Given the description of an element on the screen output the (x, y) to click on. 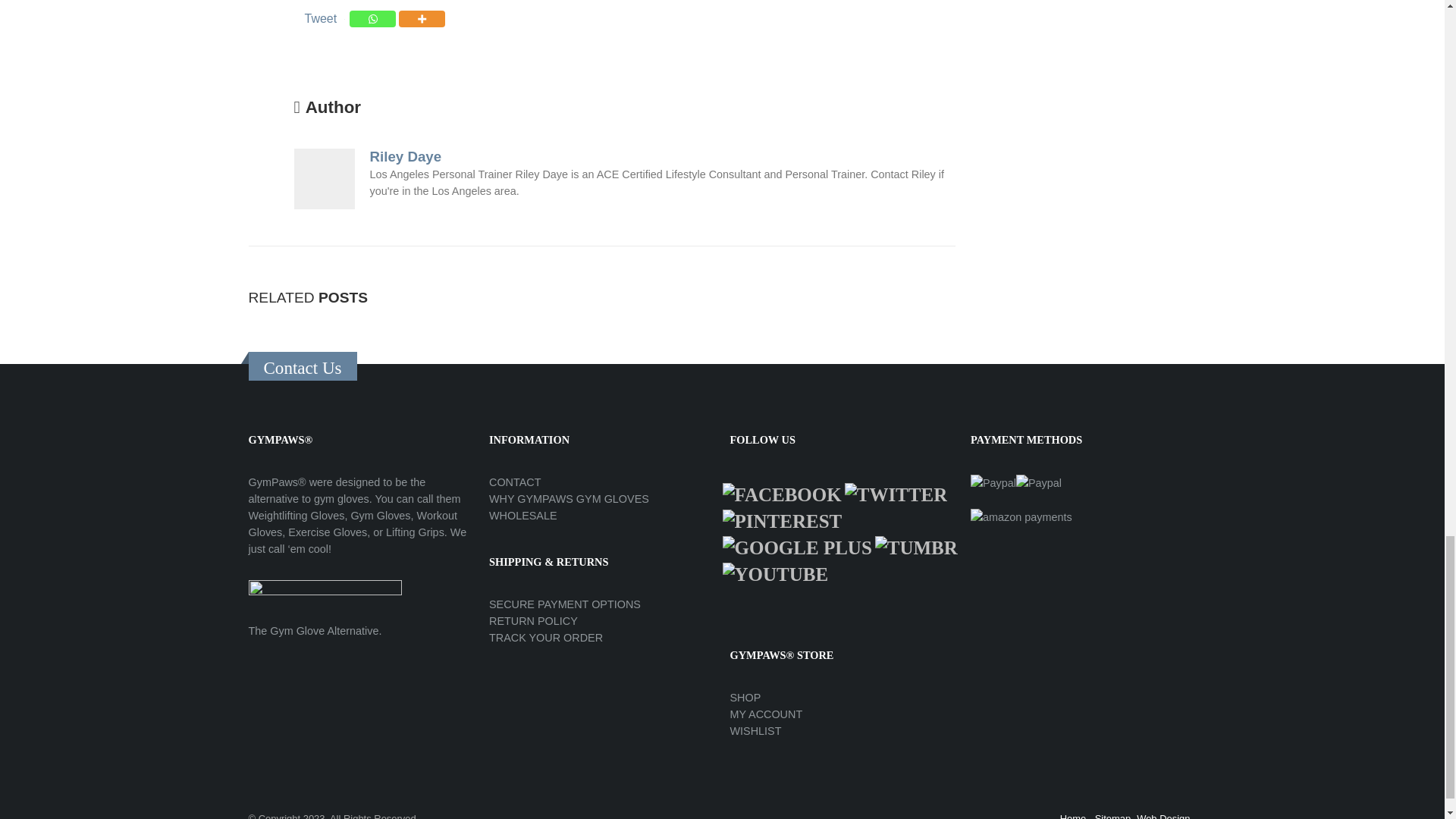
More (421, 18)
Posts by Riley Daye (405, 156)
Tweet (320, 18)
Riley Daye (405, 156)
